Given the description of an element on the screen output the (x, y) to click on. 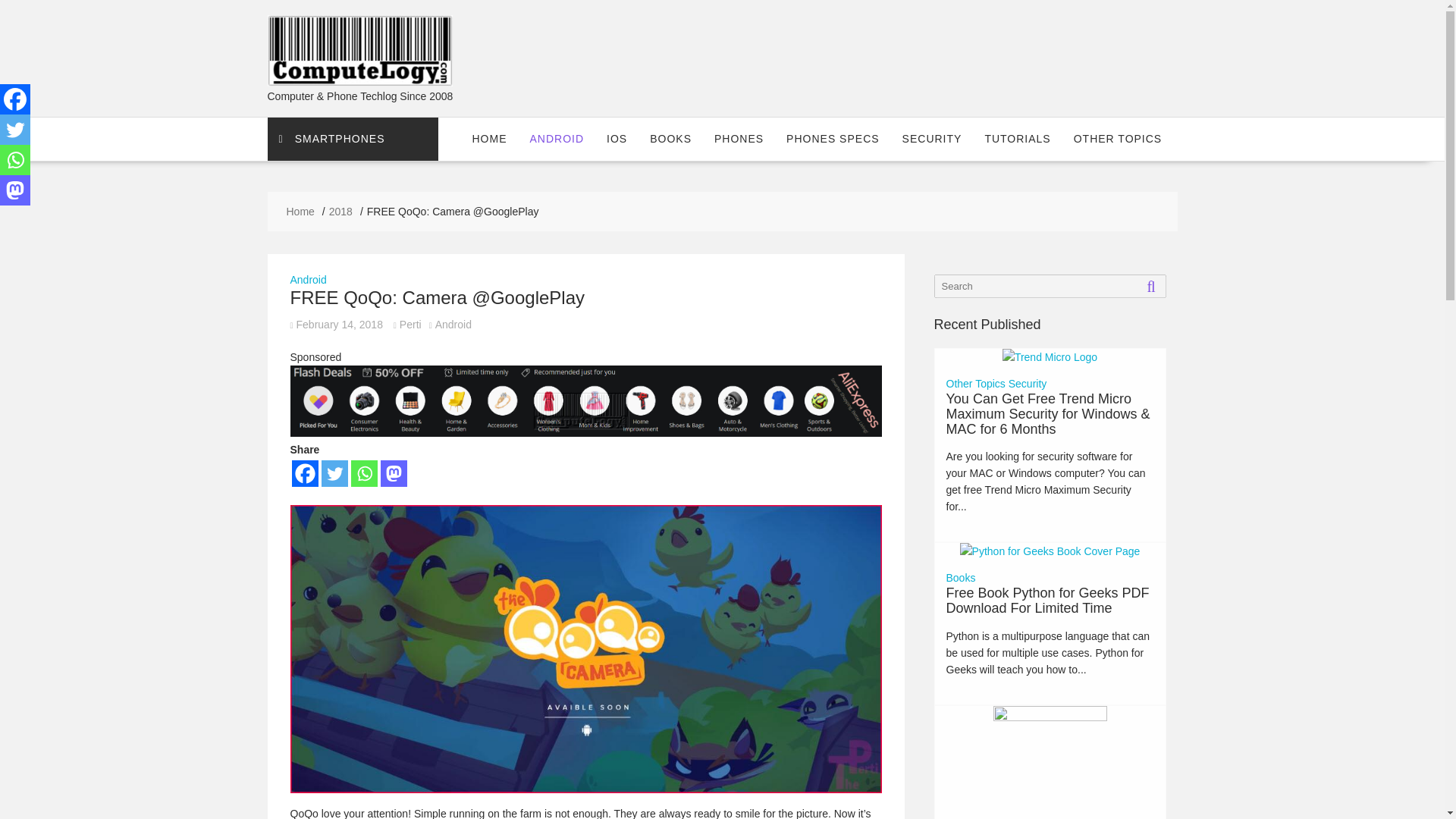
IOS (617, 138)
BOOKS (671, 138)
PHONES SPECS (831, 138)
Android (307, 279)
HOME (489, 138)
SECURITY (932, 138)
Perti (407, 324)
TUTORIALS (1016, 138)
ANDROID (556, 138)
